Given the description of an element on the screen output the (x, y) to click on. 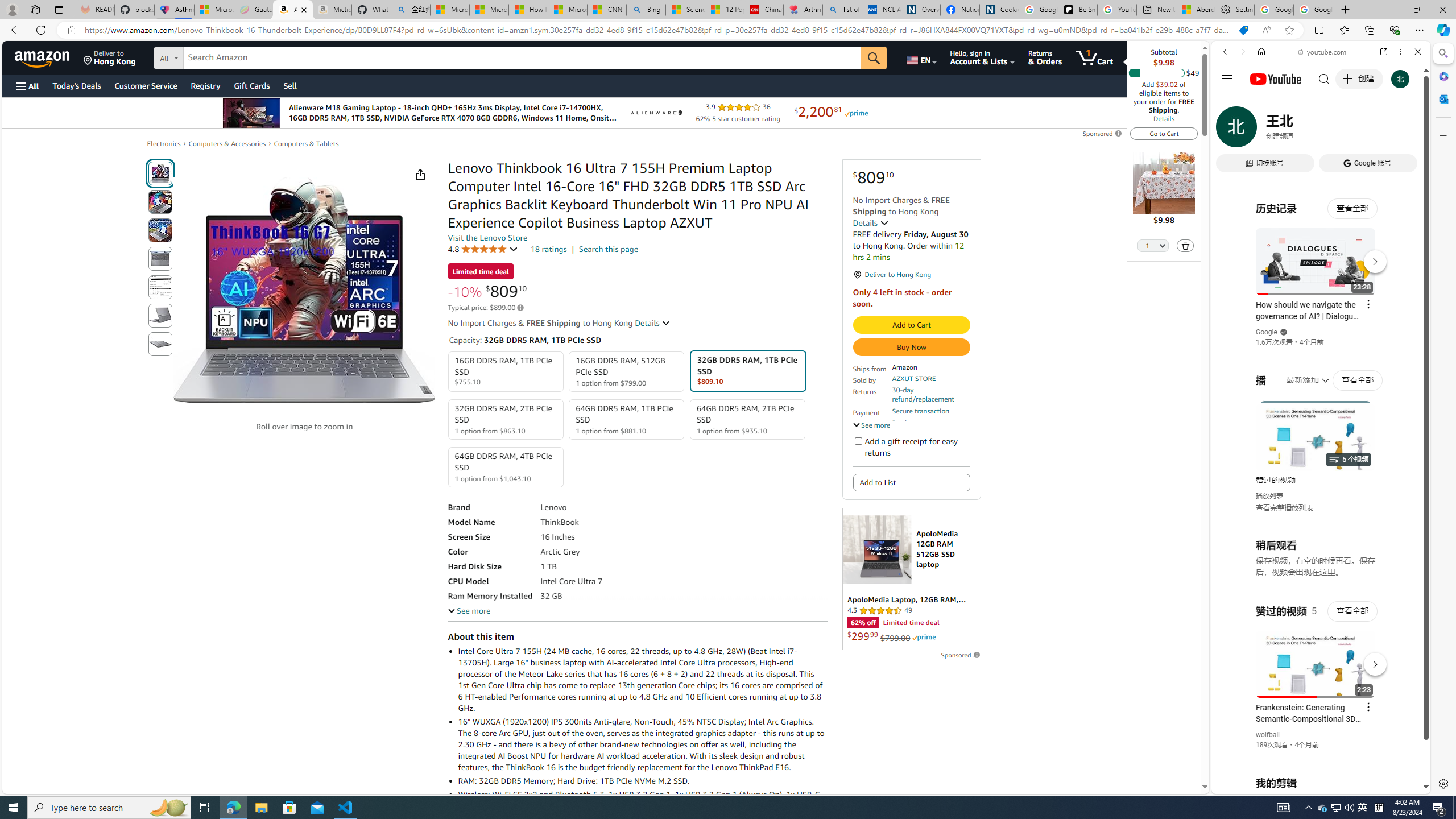
64GB DDR5 RAM, 2TB PCIe SSD 1 option from $935.10 (747, 418)
wolfball (1268, 734)
